Given the description of an element on the screen output the (x, y) to click on. 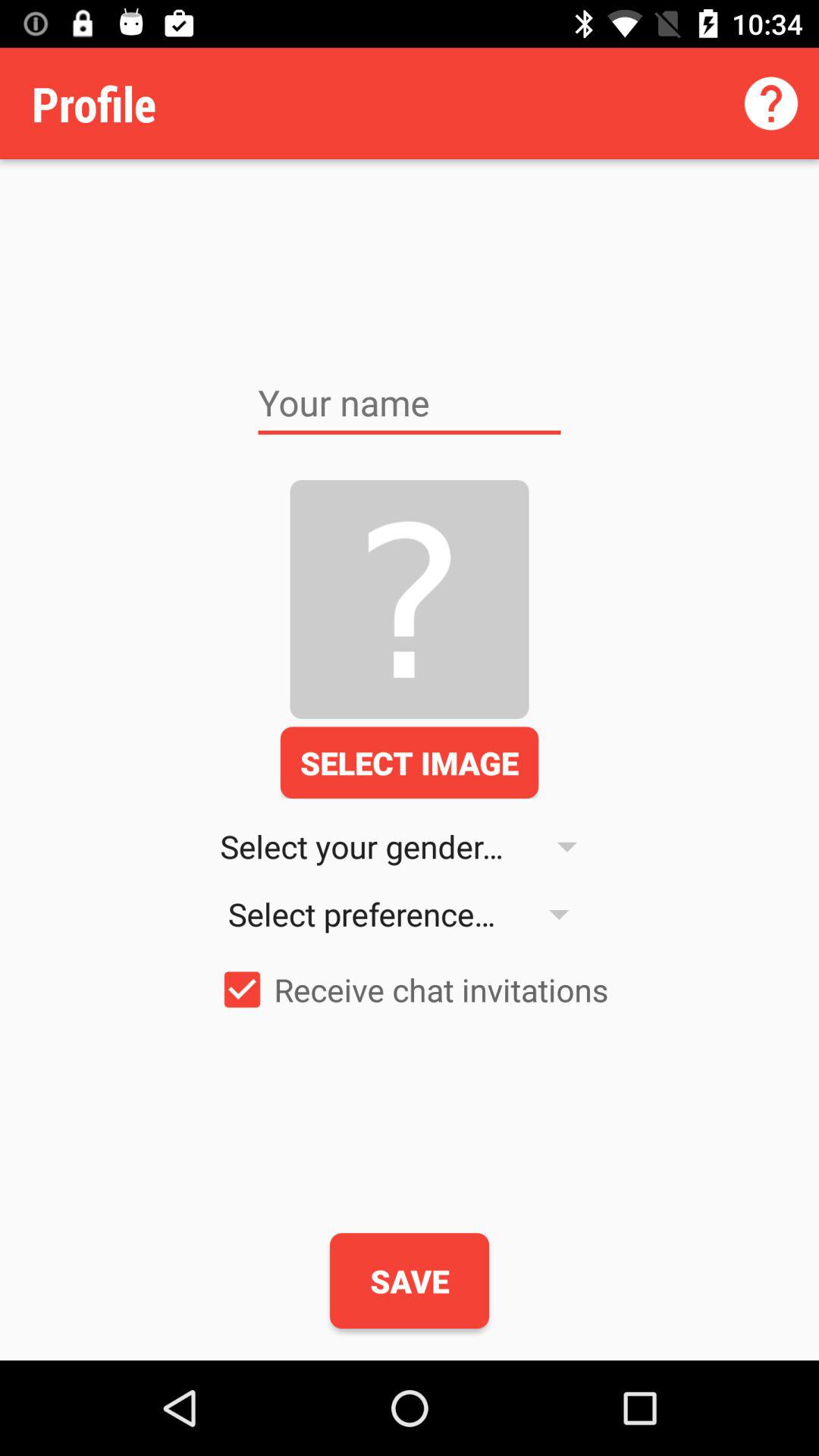
select the item to the right of profile (771, 103)
